Given the description of an element on the screen output the (x, y) to click on. 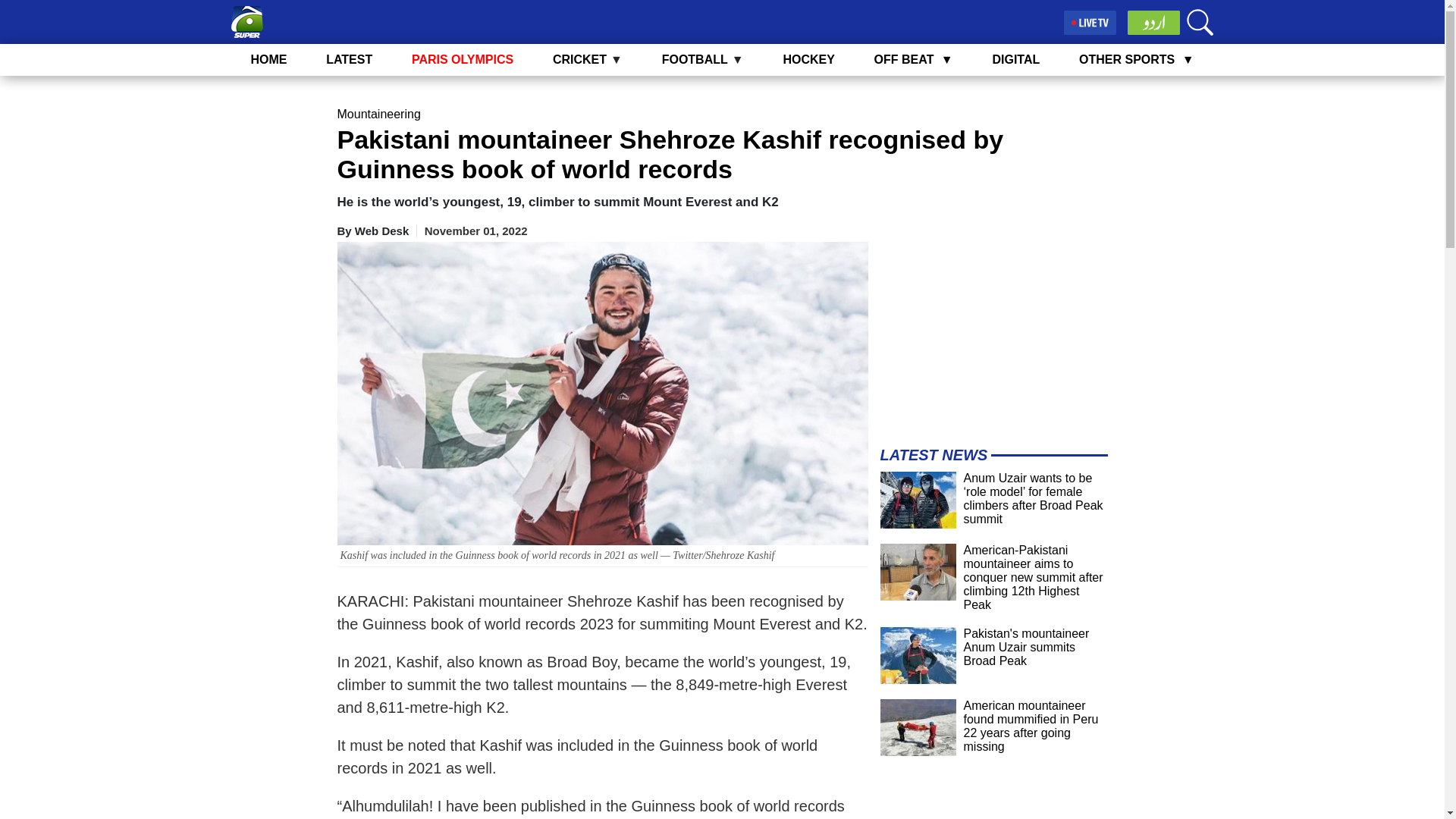
CRICKET (580, 59)
HOCKEY (808, 59)
Mountaineering (378, 113)
PARIS OLYMPICS (462, 59)
3rd party ad content (992, 336)
LATEST (349, 59)
DIGITAL (1015, 59)
FOOTBALL (695, 59)
Search (1199, 22)
HOME (268, 59)
